Given the description of an element on the screen output the (x, y) to click on. 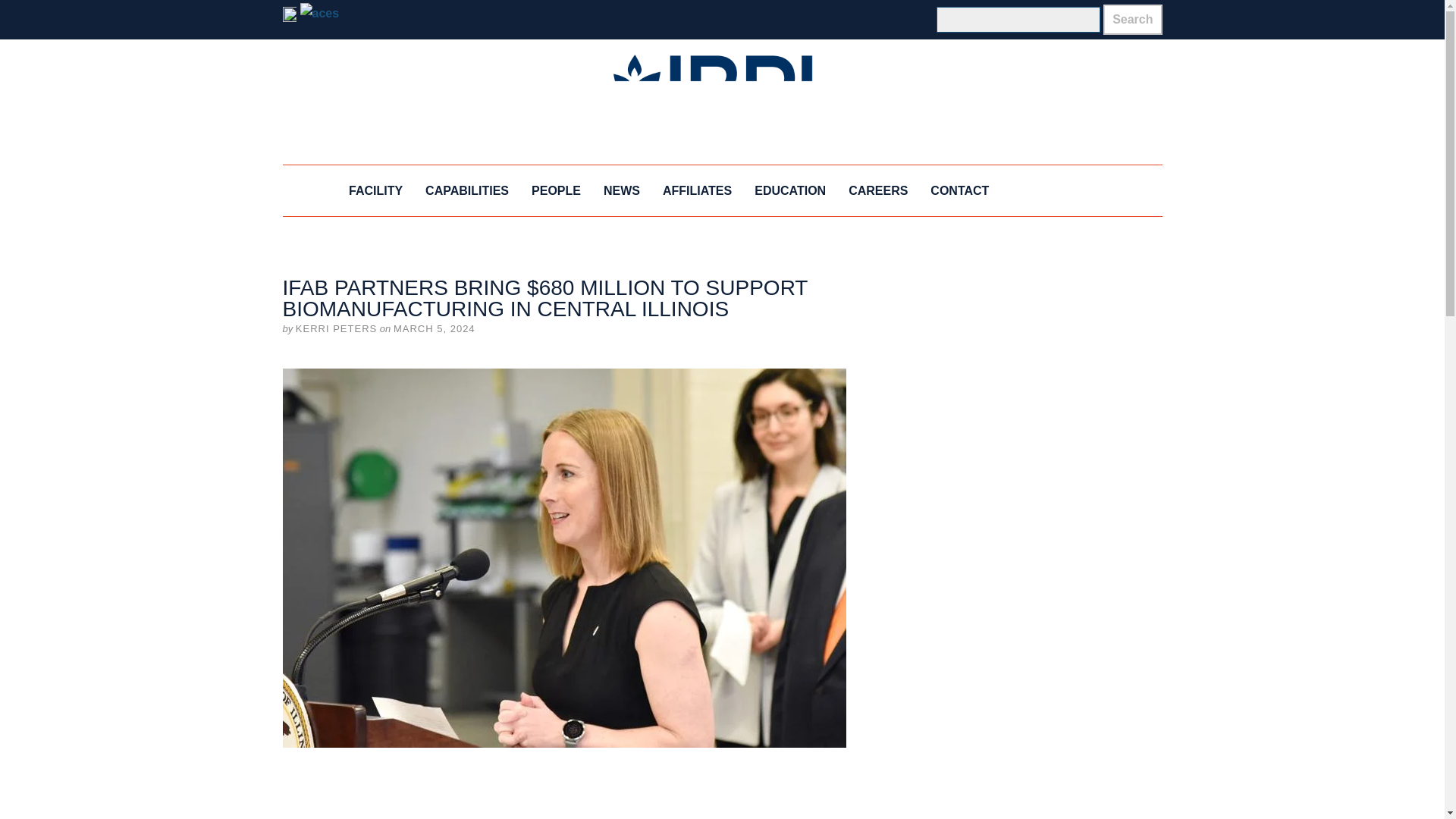
NEWS (621, 191)
CONTACT (959, 191)
Search (1132, 19)
Search (1132, 19)
FACILITY (375, 191)
EDUCATION (789, 191)
AFFILIATES (696, 191)
CAPABILITIES (466, 191)
visit the home page (721, 101)
2024-03-05 (434, 328)
CAREERS (877, 191)
PEOPLE (555, 191)
